Given the description of an element on the screen output the (x, y) to click on. 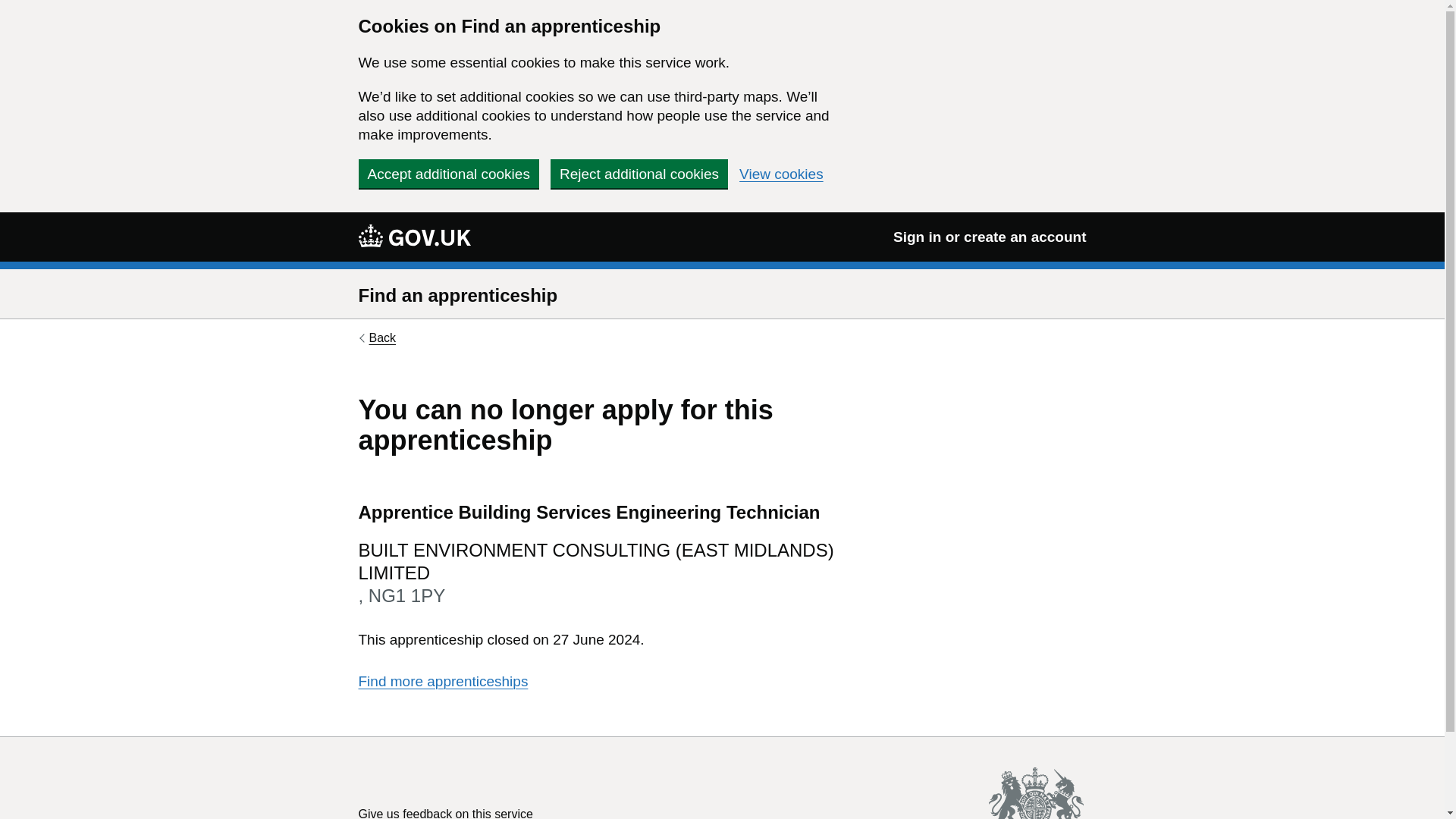
Reject additional cookies (639, 173)
Accept additional cookies (448, 173)
Back (377, 337)
Find more apprenticeships (442, 681)
View cookies (781, 173)
Sign in or create an account (989, 236)
Give us feedback on this service (445, 813)
GOV.UK (414, 235)
GOV.UK (414, 235)
Skip to main content (11, 7)
